Given the description of an element on the screen output the (x, y) to click on. 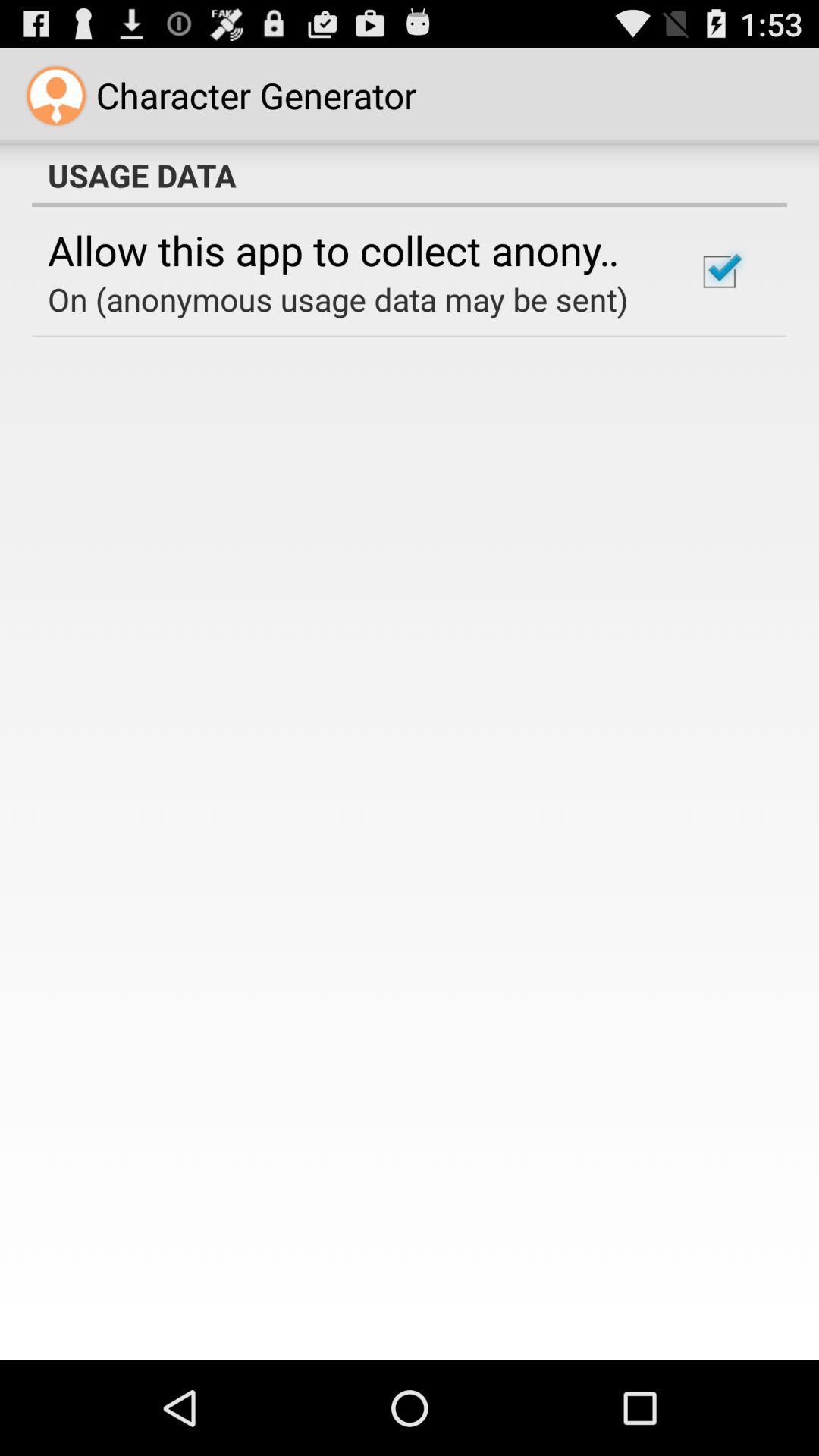
click allow this app icon (351, 249)
